Given the description of an element on the screen output the (x, y) to click on. 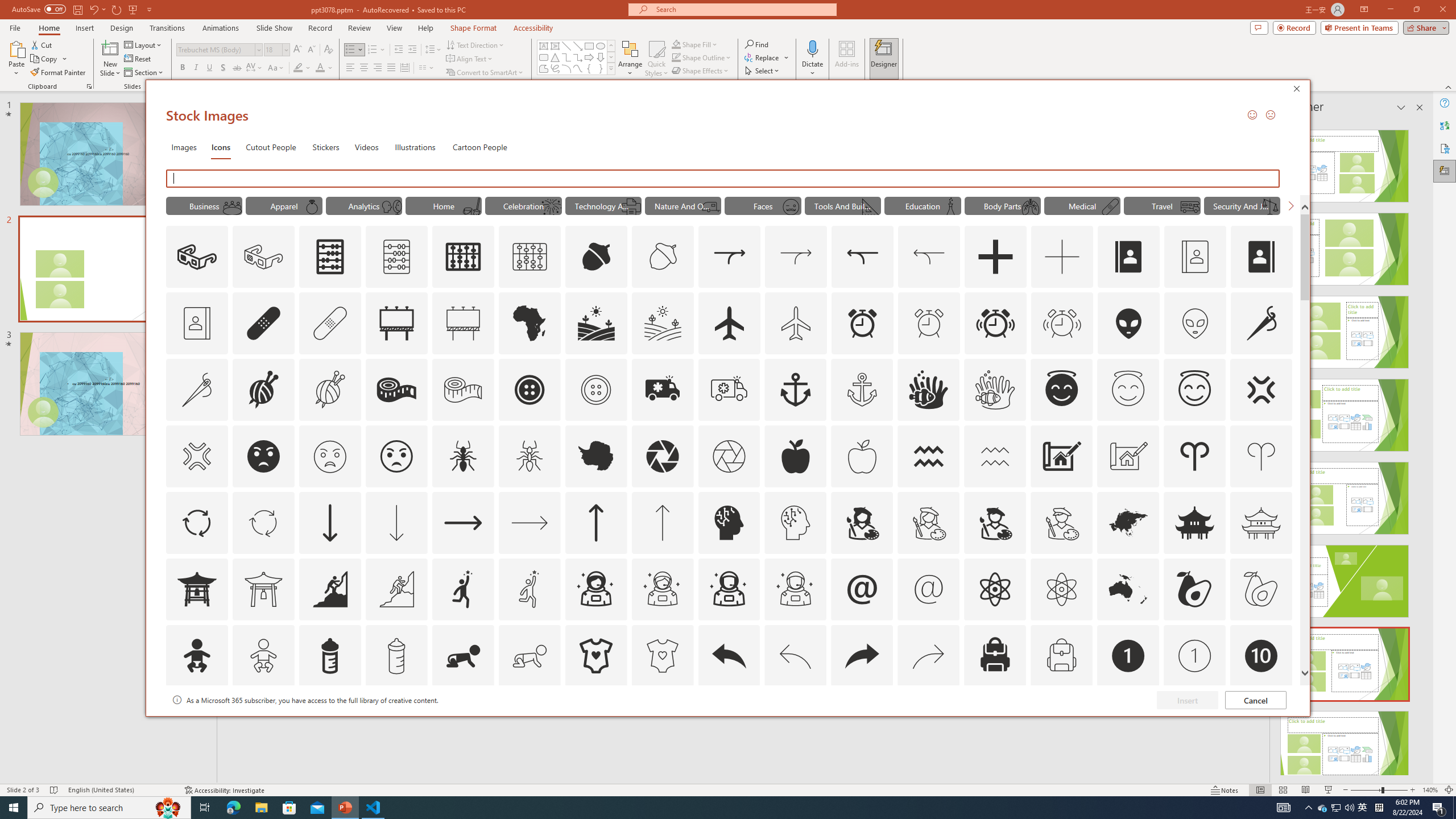
AutomationID: Icons_Aspiration (329, 588)
AutomationID: Icons_AlarmClock (863, 323)
AutomationID: Icons_Anchor (795, 389)
Cartoon People (479, 146)
AutomationID: Icons_Badge6_M (861, 721)
Text Highlight Color Yellow (297, 67)
AutomationID: Icons_AlarmRinging_M (1062, 323)
AutomationID: Icons_Reflection_M (391, 206)
AutomationID: Icons_Badge9_M (1260, 721)
